Given the description of an element on the screen output the (x, y) to click on. 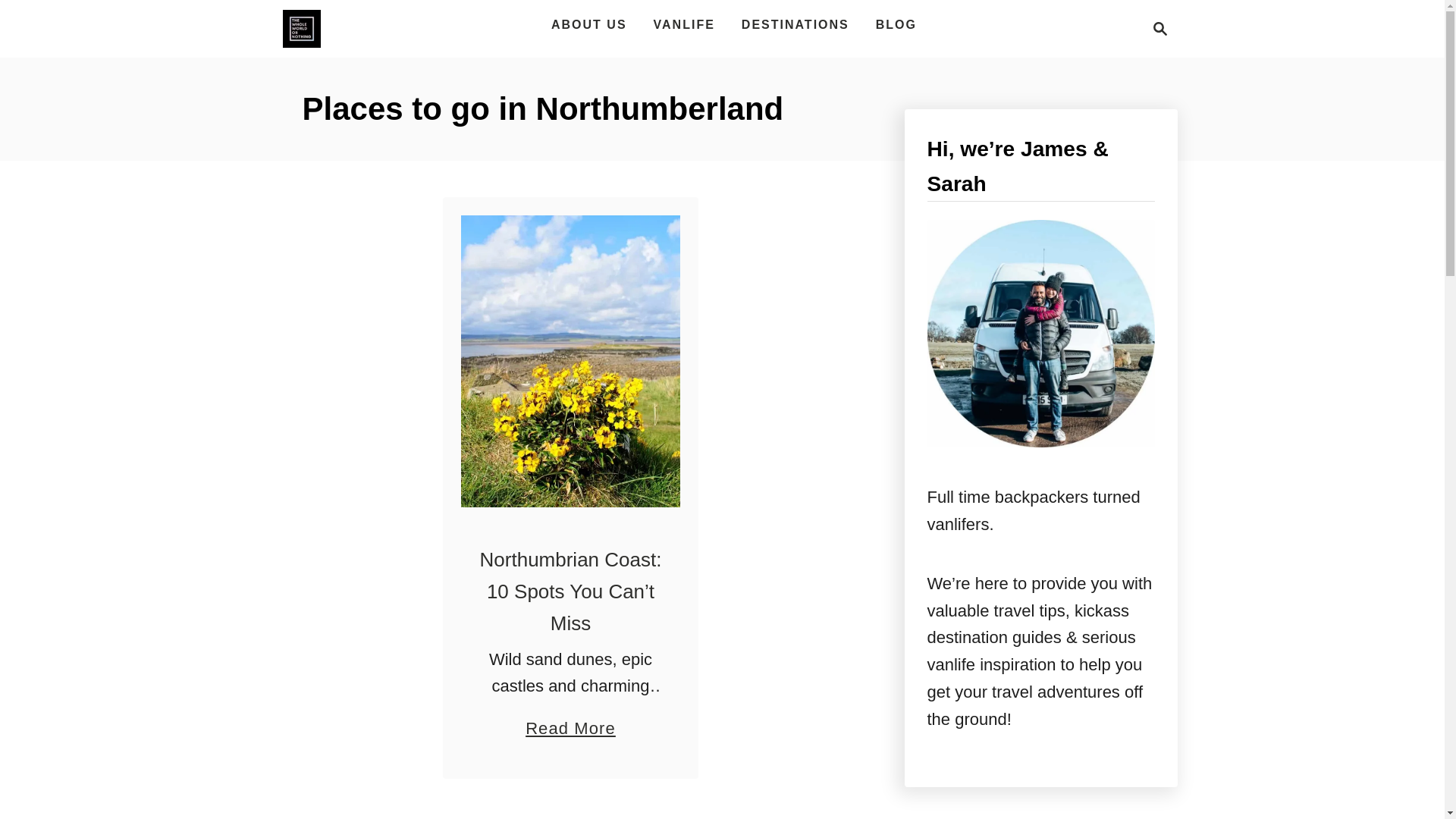
VANLIFE (684, 24)
ABOUT US (588, 24)
Magnifying Glass (1160, 28)
The Whole World Or Nothing (301, 28)
DESTINATIONS (795, 24)
BLOG (895, 24)
